Given the description of an element on the screen output the (x, y) to click on. 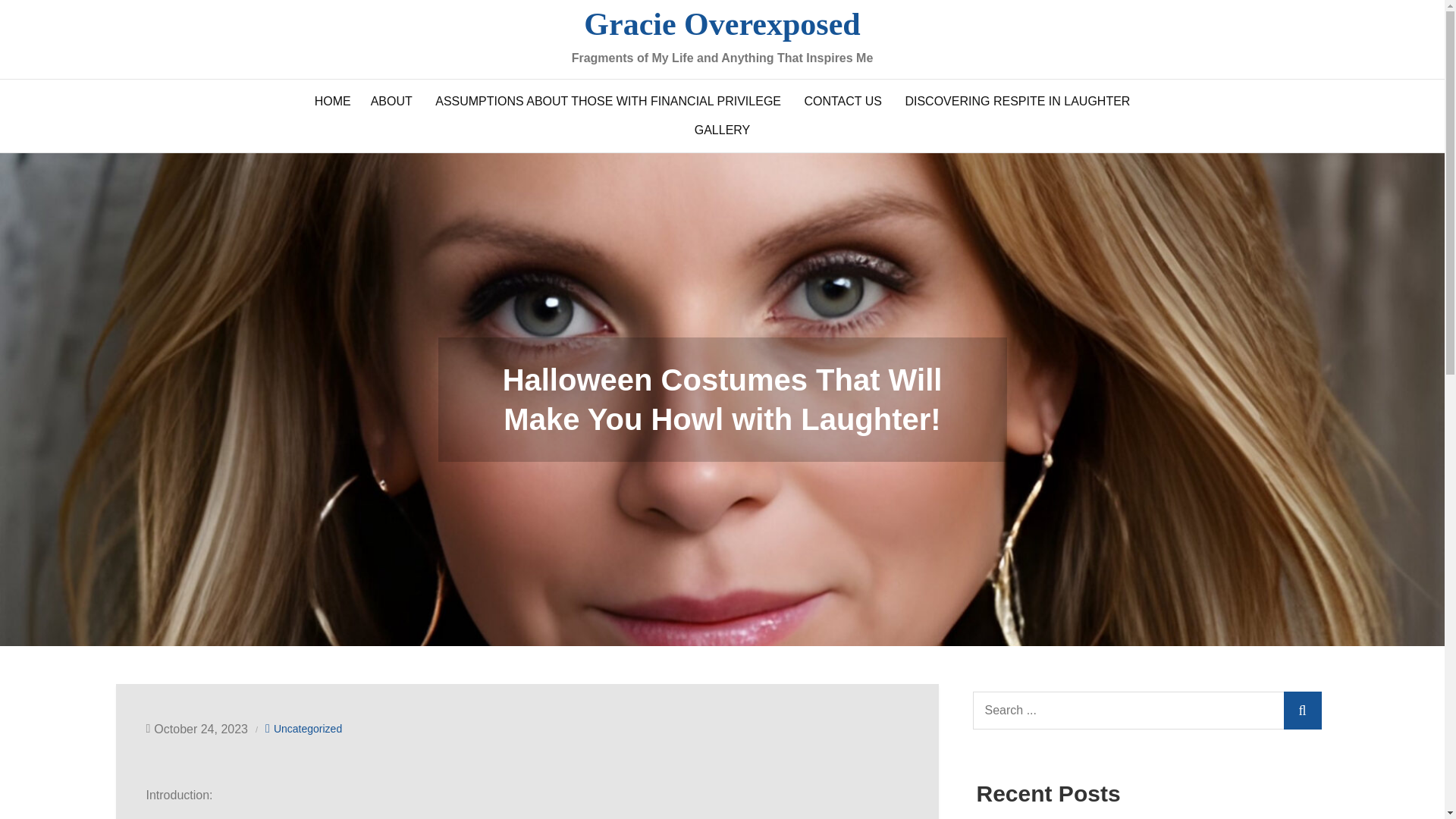
Search (1301, 710)
Search for: (1146, 710)
HOME (332, 101)
DISCOVERING RESPITE IN LAUGHTER (1017, 101)
Uncategorized (307, 728)
GALLERY (722, 130)
CONTACT US (842, 101)
Gracie Overexposed (721, 23)
ABOUT (391, 101)
ASSUMPTIONS ABOUT THOSE WITH FINANCIAL PRIVILEGE (607, 101)
